Given the description of an element on the screen output the (x, y) to click on. 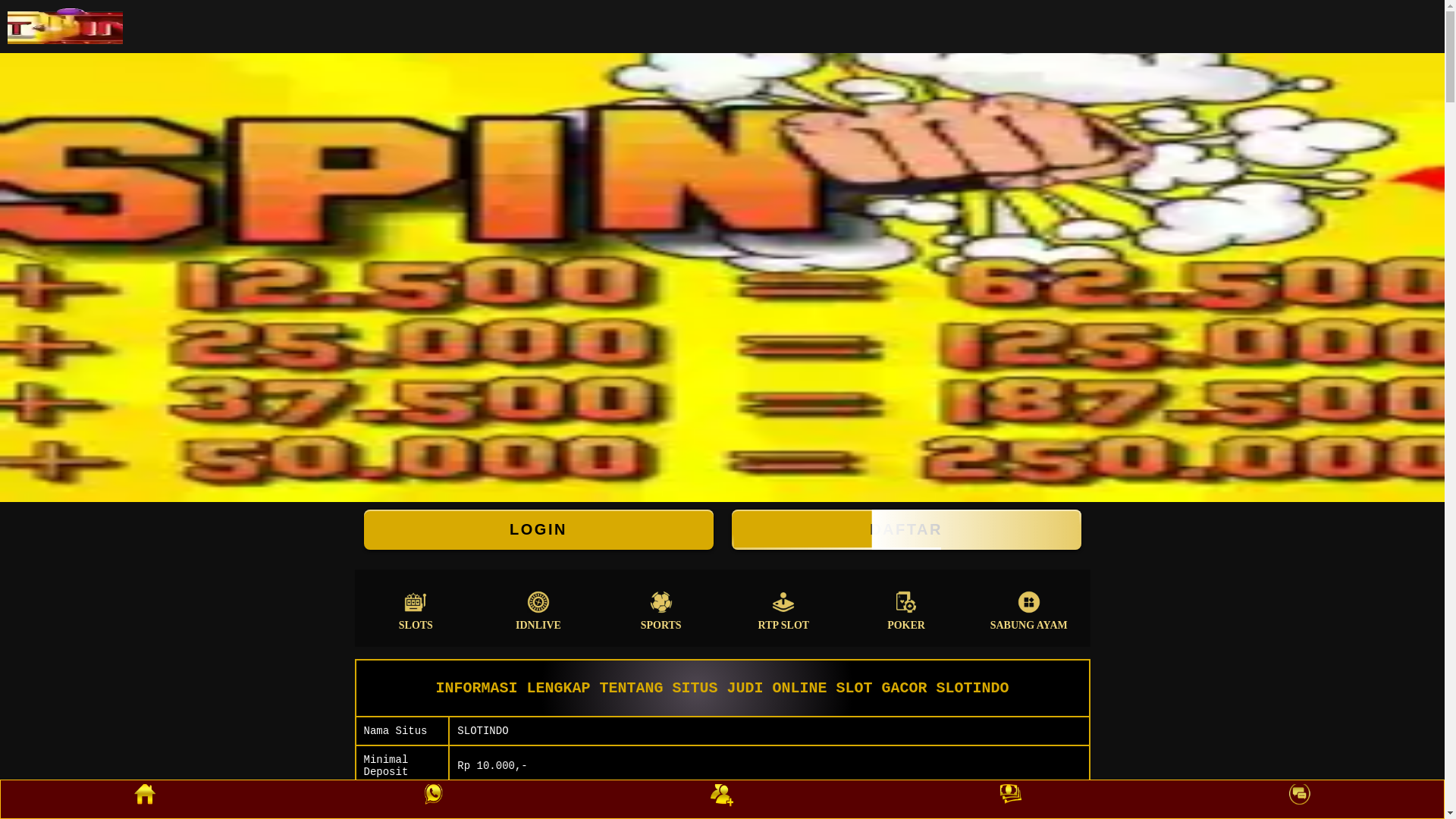
SPORTS Element type: text (660, 607)
POKER Element type: text (905, 607)
RTP SLOT Element type: text (783, 607)
DAFTAR Element type: text (905, 529)
SLOTS Element type: text (415, 607)
LOGIN Element type: text (538, 529)
Next item in carousel (1 of 1) Element type: hover (1431, 271)
SABUNG AYAM Element type: text (1028, 607)
IDNLIVE Element type: text (538, 607)
Slot Online Element type: hover (722, 271)
Previous item in carousel (1 of 1) Element type: hover (12, 271)
